Given the description of an element on the screen output the (x, y) to click on. 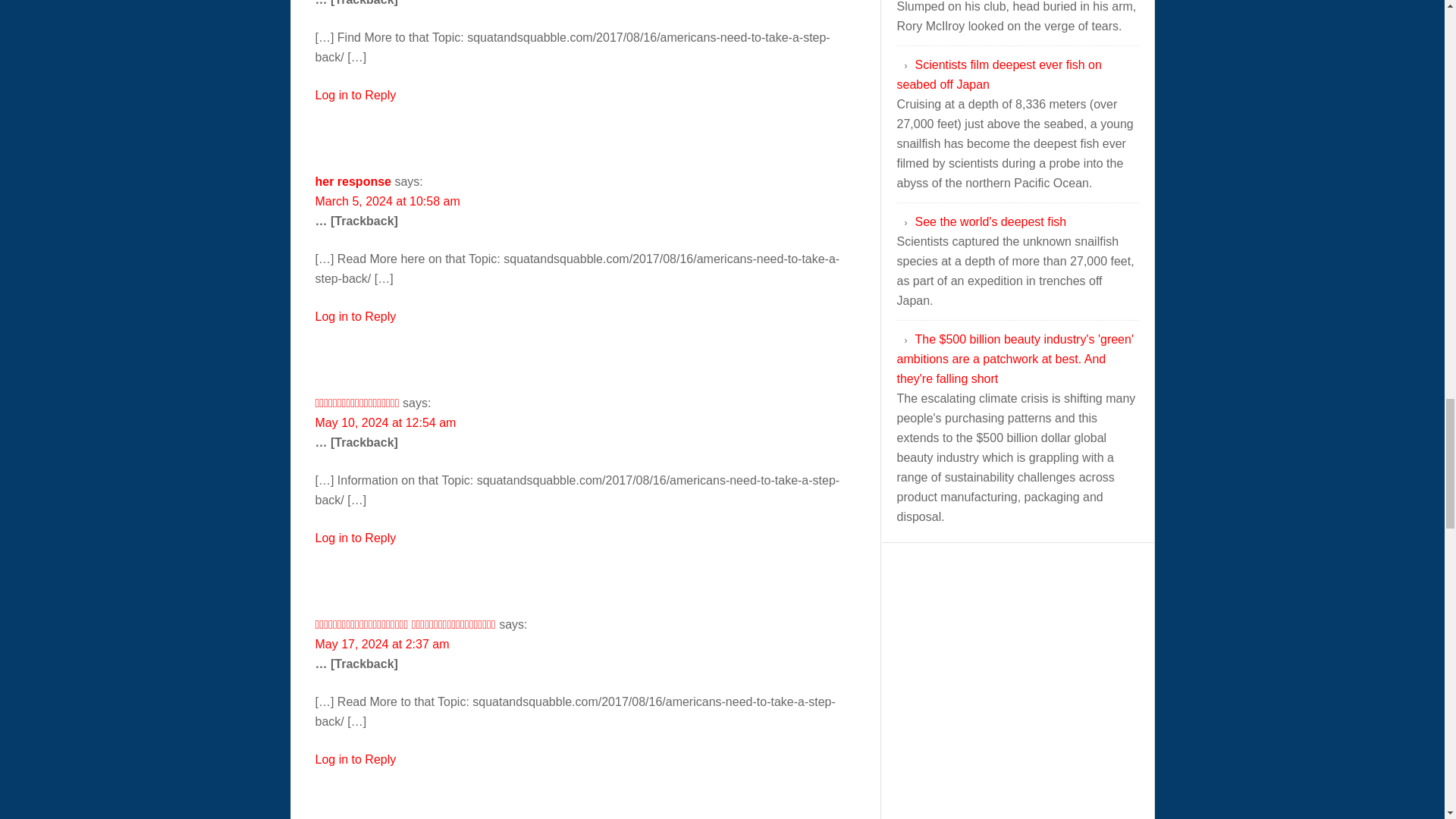
May 17, 2024 at 2:37 am (382, 644)
May 10, 2024 at 12:54 am (386, 422)
March 5, 2024 at 10:58 am (387, 201)
Log in to Reply (355, 94)
her response (353, 181)
Log in to Reply (355, 758)
Log in to Reply (355, 316)
Log in to Reply (355, 537)
